Given the description of an element on the screen output the (x, y) to click on. 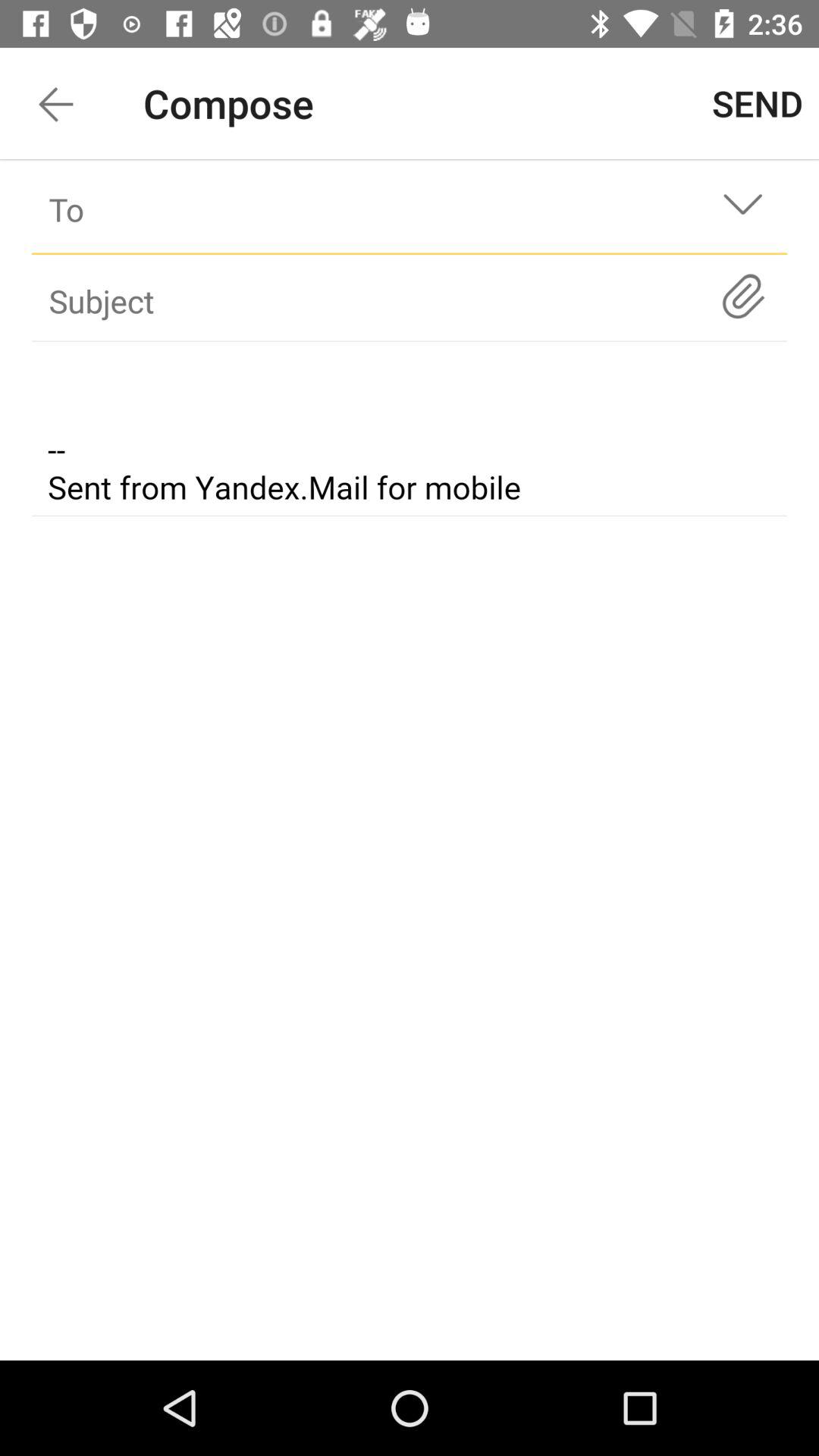
select the subject box (382, 300)
